Given the description of an element on the screen output the (x, y) to click on. 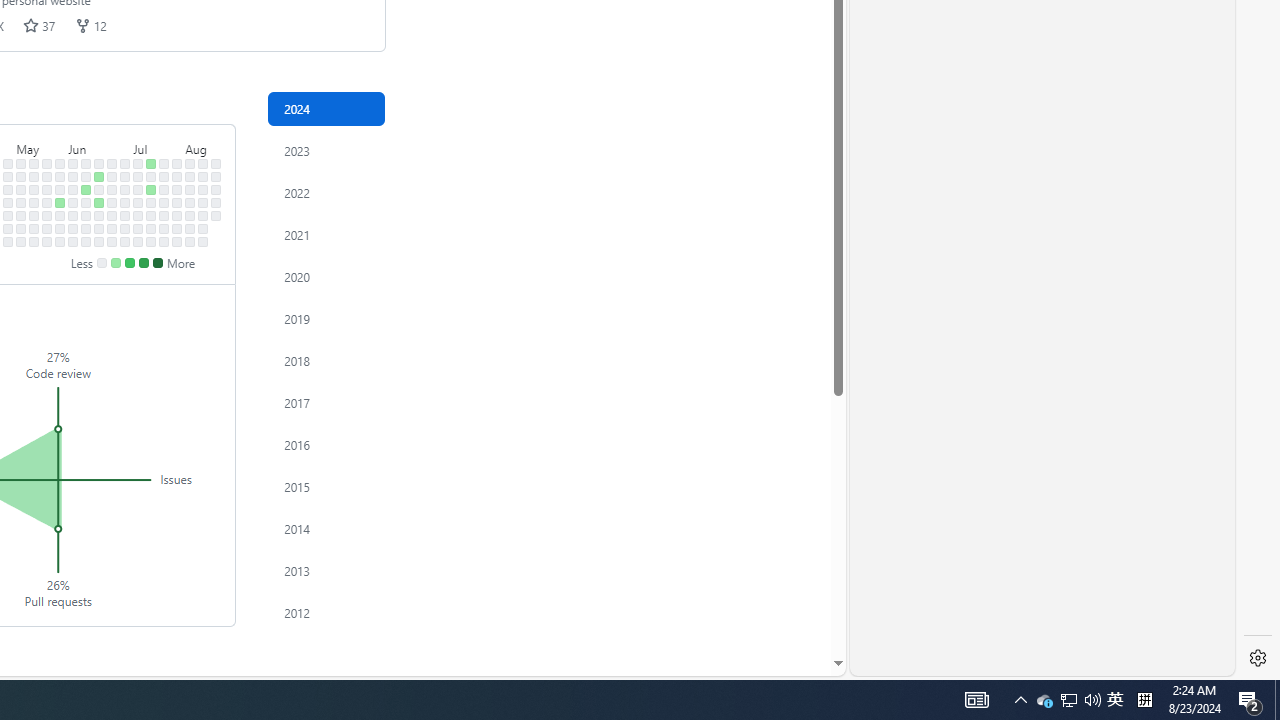
1 contribution on June 19th. (98, 202)
No contributions on May 14th. (34, 189)
Contribution activity in 2022 (326, 192)
No contributions on May 17th. (34, 228)
No contributions on May 16th. (34, 215)
No contributions on June 4th. (73, 189)
No contributions on August 17th. (203, 241)
No contributions on July 20th. (151, 241)
forks (82, 25)
No contributions on May 28th. (60, 189)
No contributions on May 19th. (47, 163)
No contributions on May 26th. (60, 163)
No contributions on July 23rd. (164, 189)
No contributions on August 15th. (203, 215)
2023 (326, 150)
